Given the description of an element on the screen output the (x, y) to click on. 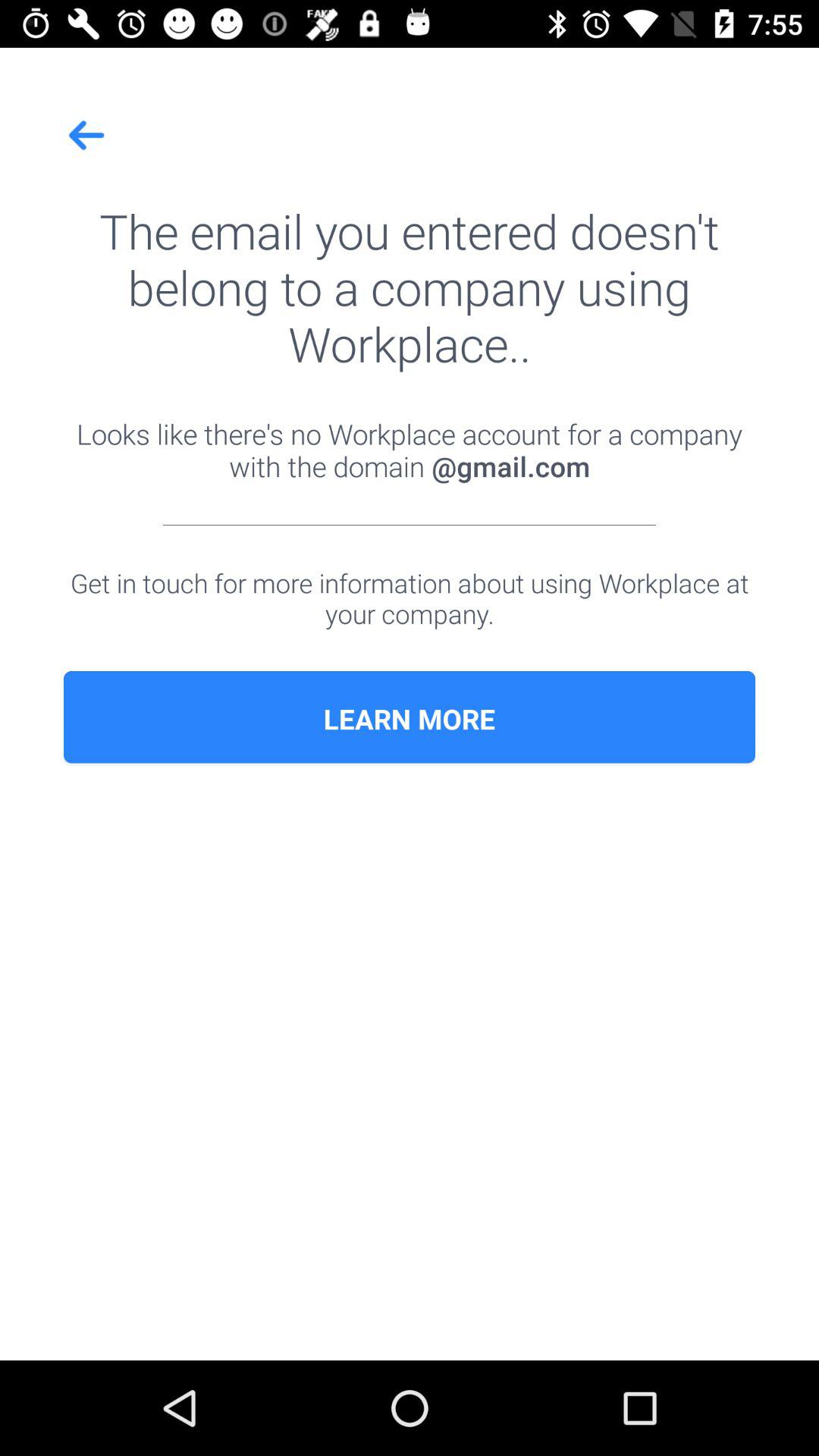
scroll to the learn more icon (409, 718)
